Given the description of an element on the screen output the (x, y) to click on. 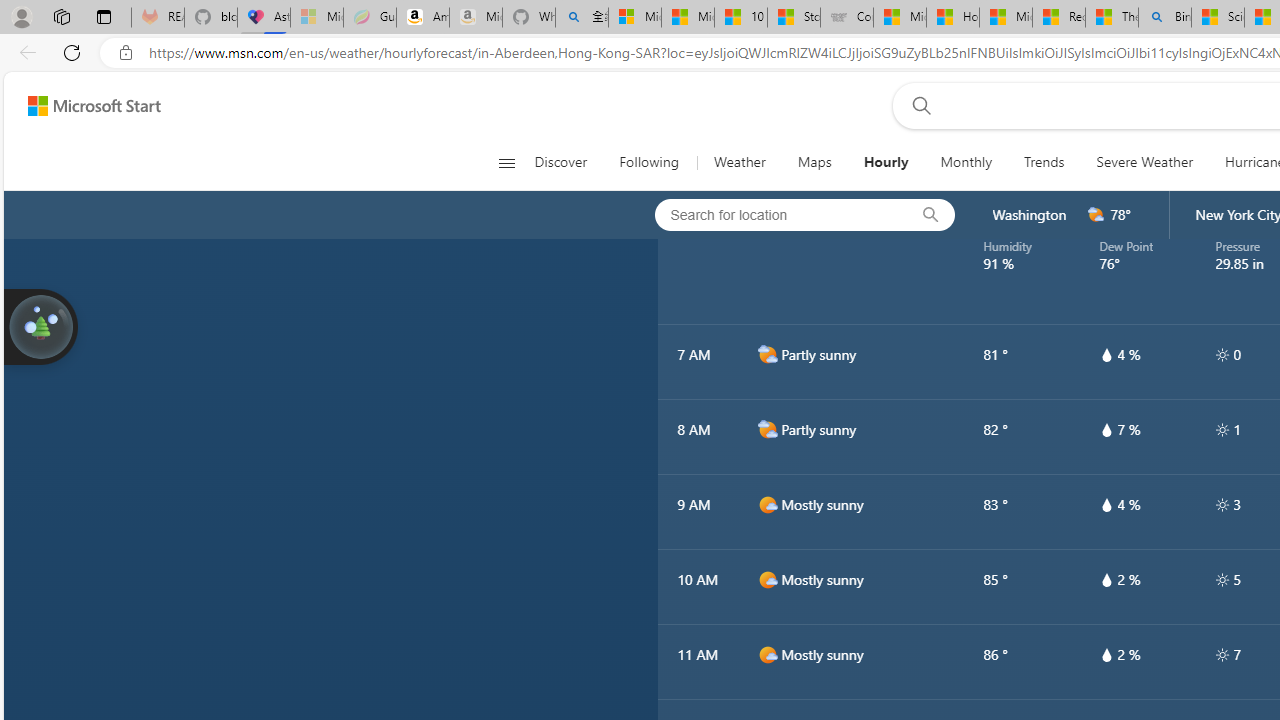
hourlyTable/drop (1106, 654)
Combat Siege (846, 17)
Open navigation menu (506, 162)
Trends (1044, 162)
d2000 (767, 429)
Maps (814, 162)
